Given the description of an element on the screen output the (x, y) to click on. 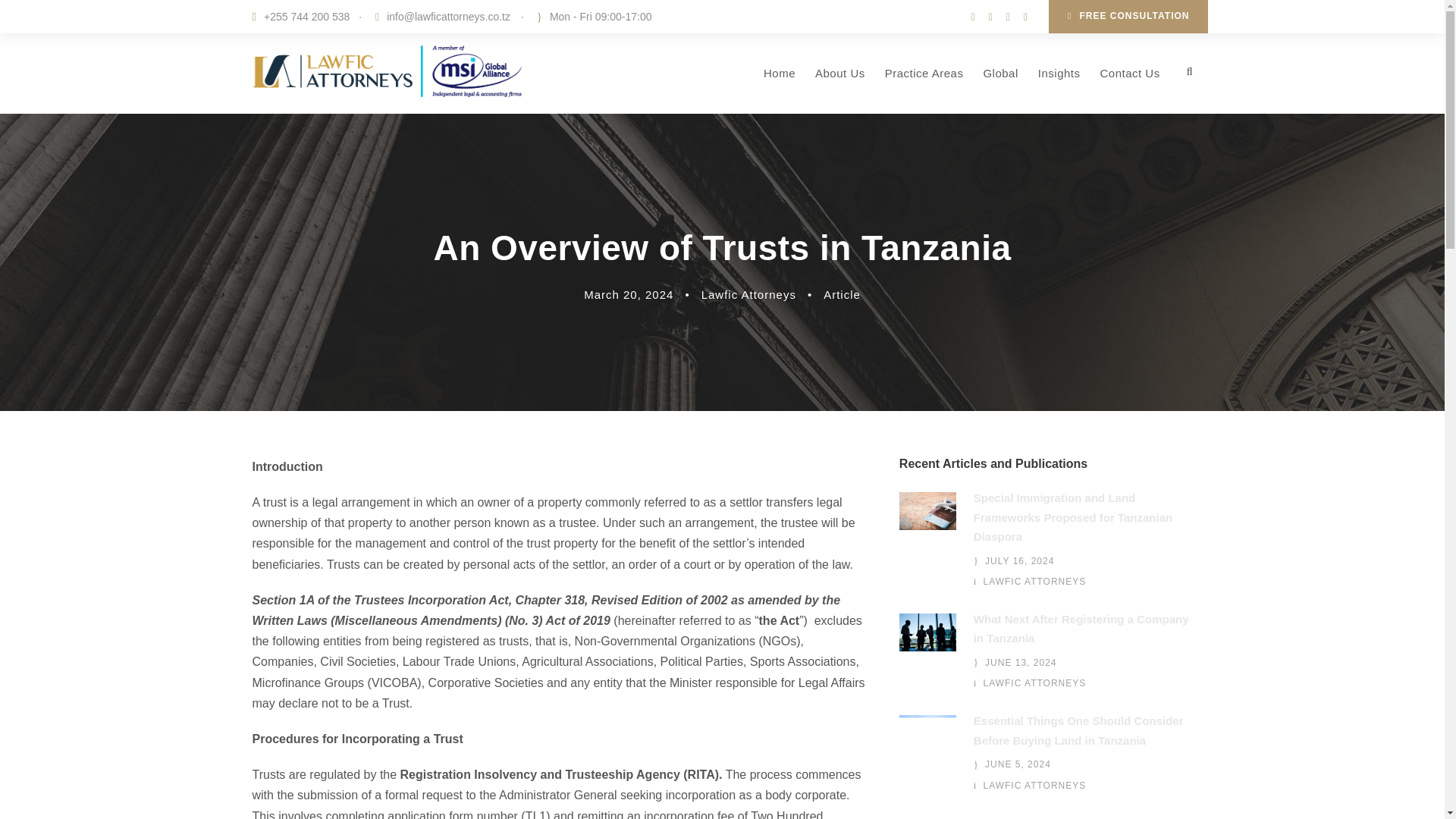
Article (842, 294)
About Us (839, 88)
Contact Us (1128, 88)
March 20, 2024 (627, 294)
Lawfic Attorneys (748, 294)
Posts by Lawfic Attorneys (748, 294)
header-logo-lawfic-attorneys-msi-01 (387, 70)
FREE CONSULTATION (1127, 16)
Practice Areas (924, 88)
